Given the description of an element on the screen output the (x, y) to click on. 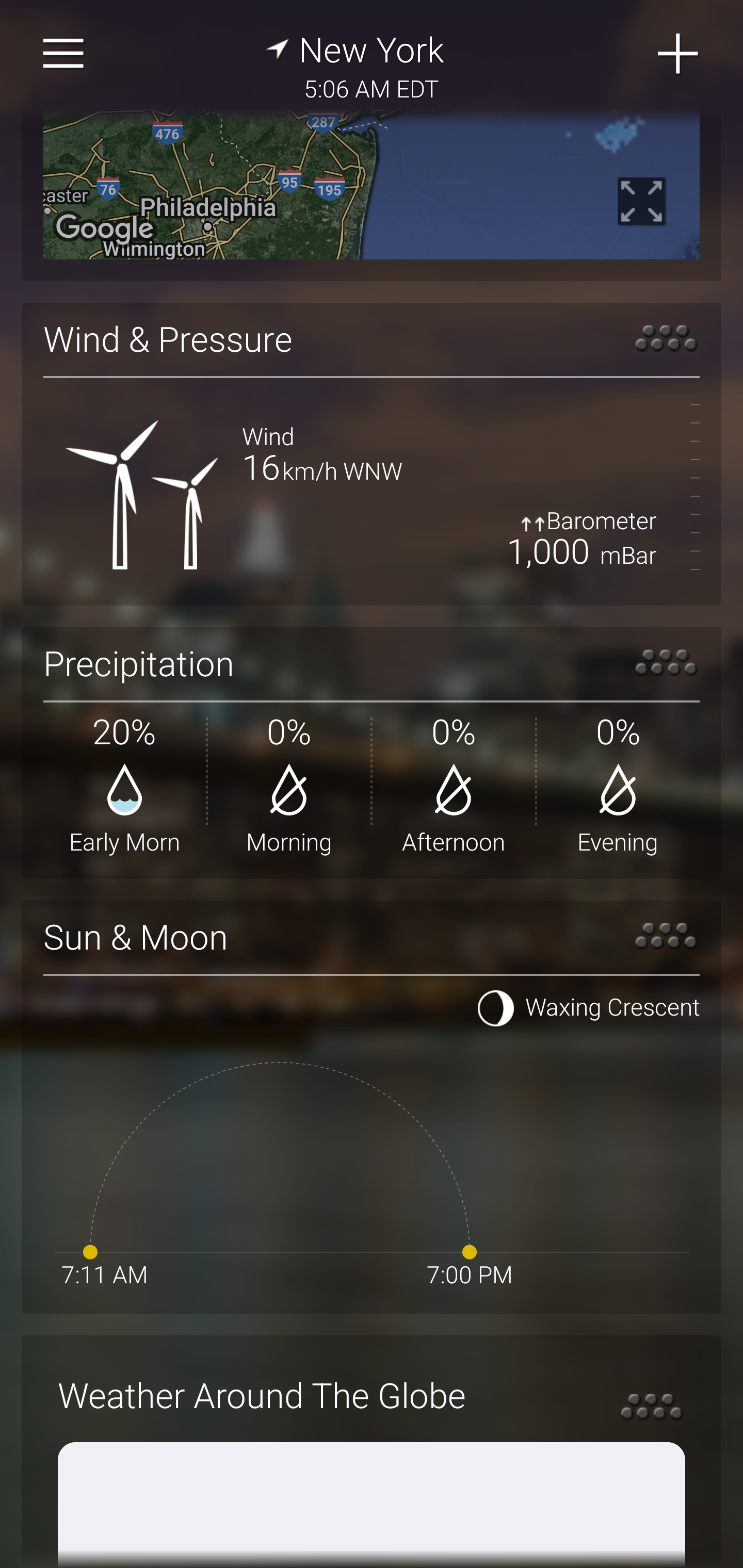
Sidebar (64, 54)
Add City (678, 53)
Google Map (371, 183)
